Given the description of an element on the screen output the (x, y) to click on. 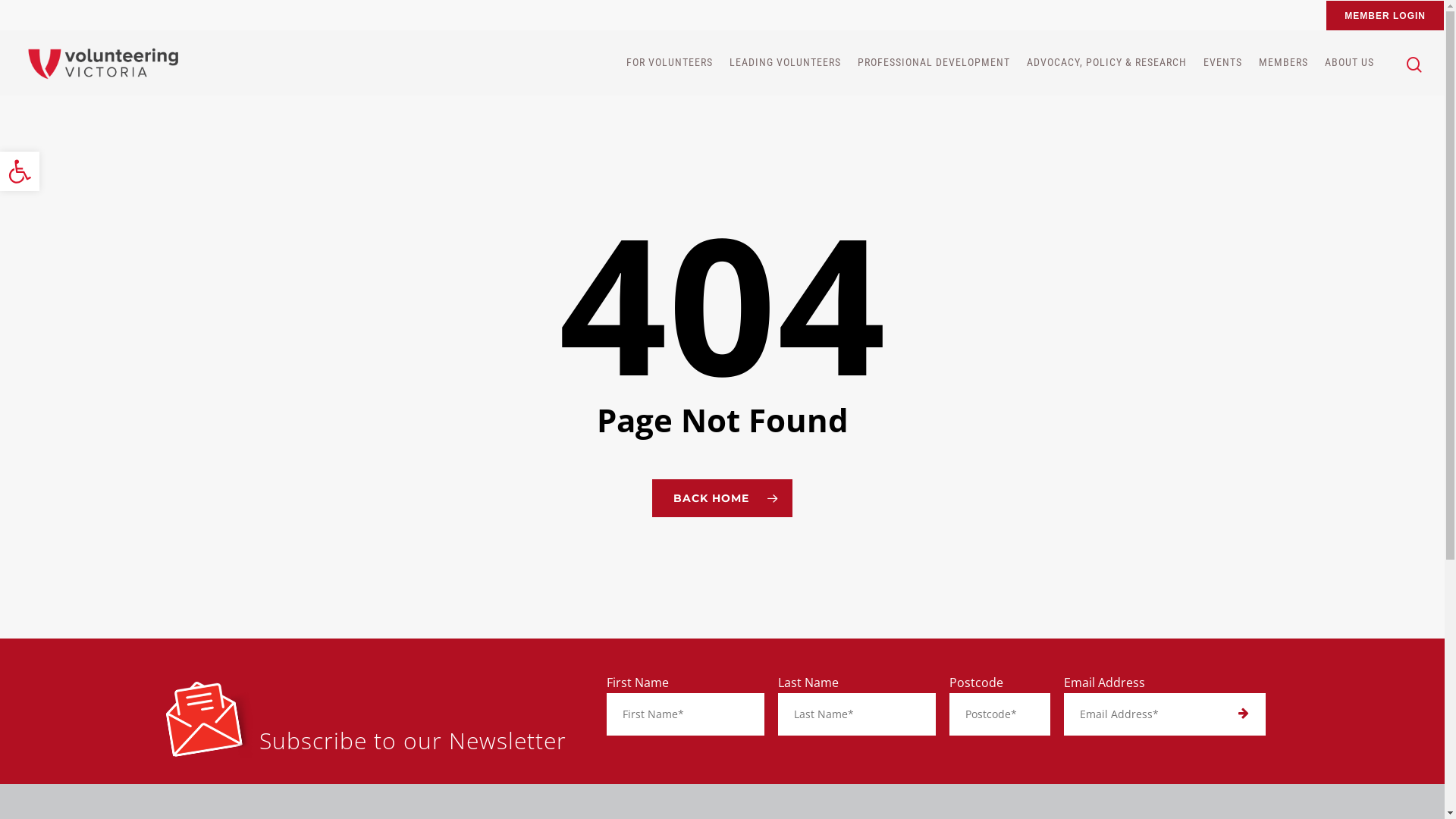
Subscribe to our Newsletter Element type: text (412, 740)
PROFESSIONAL DEVELOPMENT Element type: text (933, 62)
ADVOCACY, POLICY & RESEARCH Element type: text (1106, 62)
ABOUT US Element type: text (1349, 62)
EVENTS Element type: text (1222, 62)
LEADING VOLUNTEERS Element type: text (784, 62)
FOR VOLUNTEERS Element type: text (669, 62)
MEMBERS Element type: text (1283, 62)
Open toolbar
Accessibility Tools Element type: text (19, 171)
BACK HOME Element type: text (722, 498)
